Given the description of an element on the screen output the (x, y) to click on. 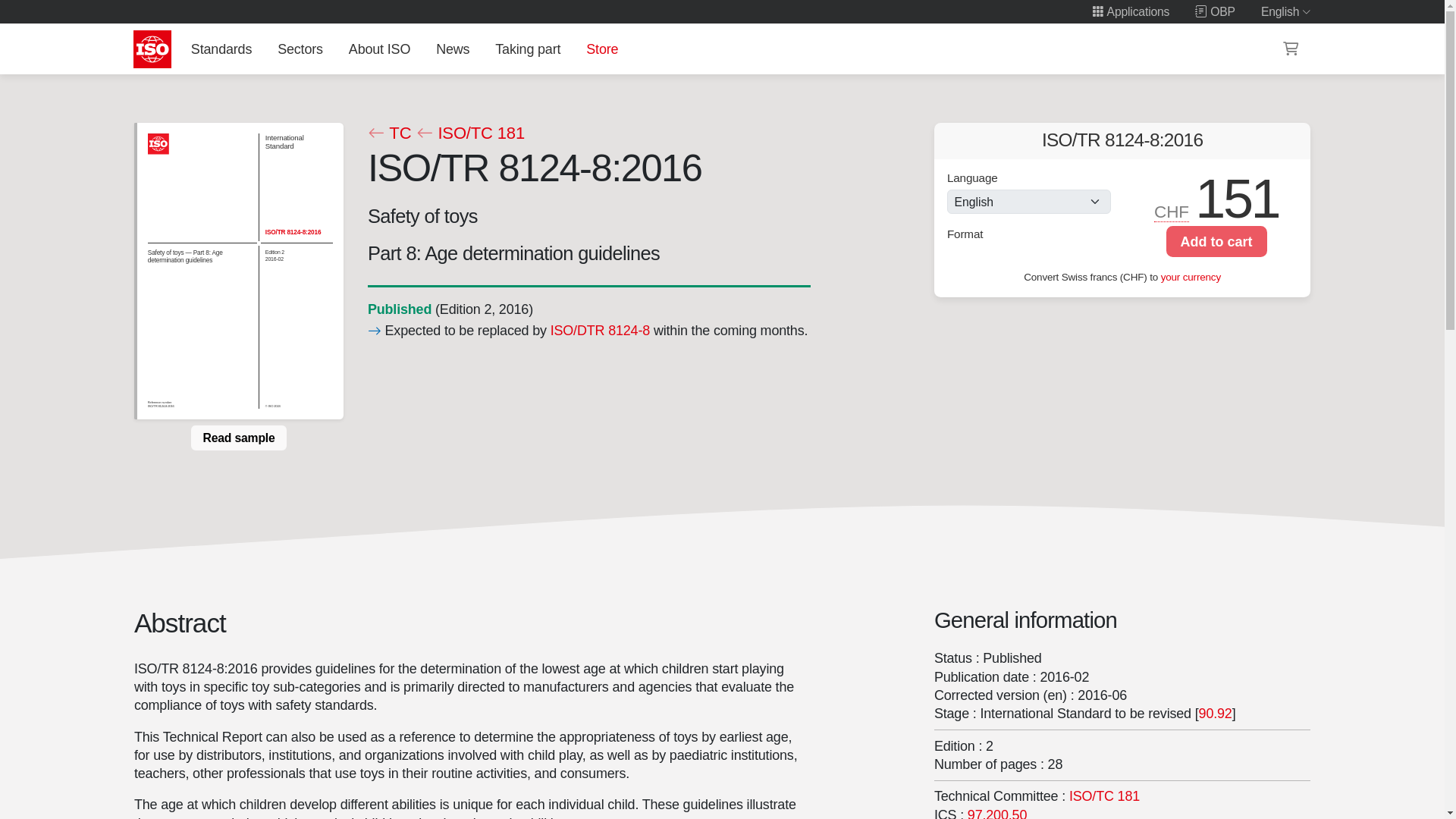
 Applications (1130, 11)
Read sample (237, 437)
your currency (1190, 276)
Add to cart (1216, 241)
About ISO (379, 48)
Sectors (300, 48)
90.92 (1214, 713)
Toys (997, 812)
Store (601, 48)
Standards (220, 48)
 OBP (1214, 11)
English (1285, 11)
